Given the description of an element on the screen output the (x, y) to click on. 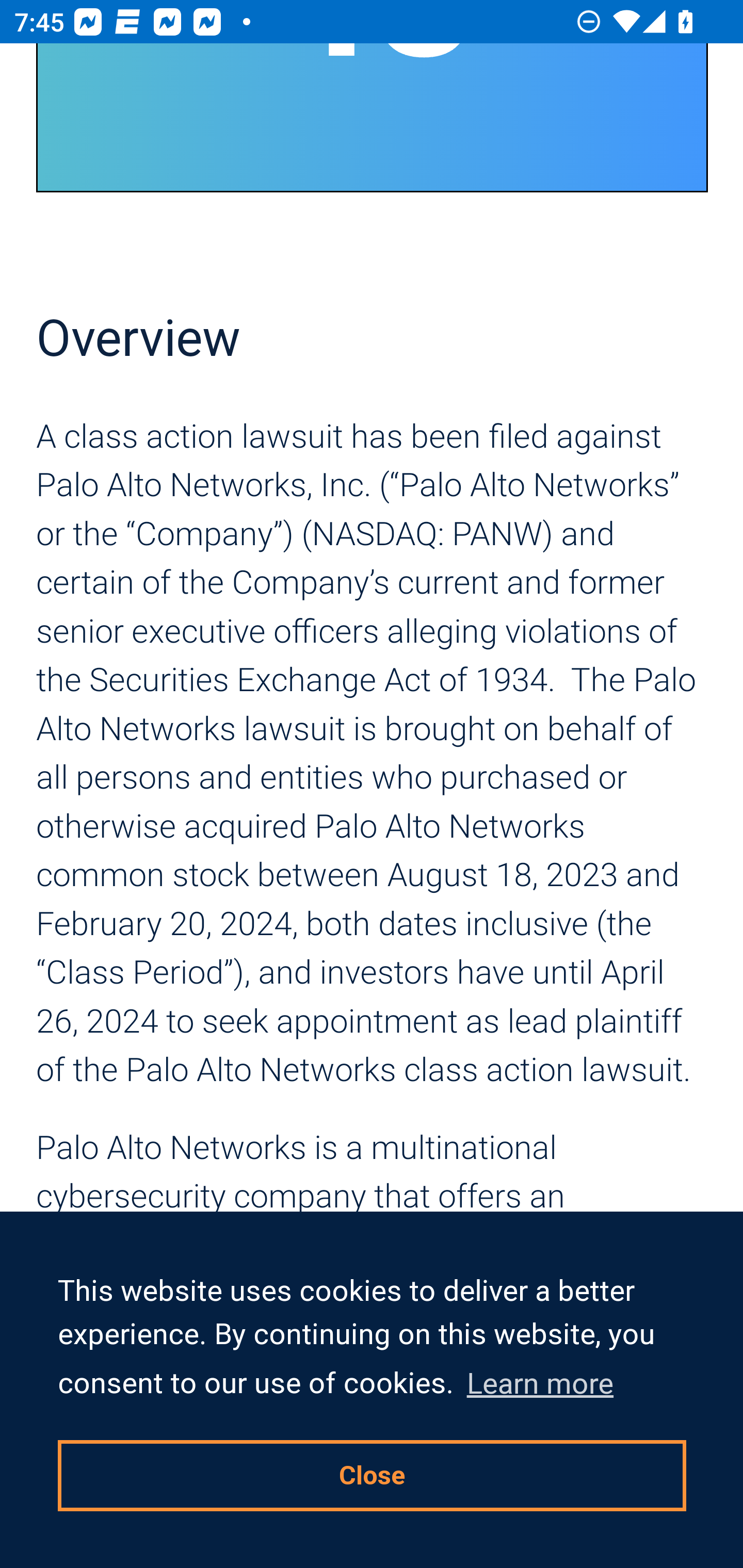
learn more about cookies (540, 1383)
dismiss cookie message (372, 1475)
